Given the description of an element on the screen output the (x, y) to click on. 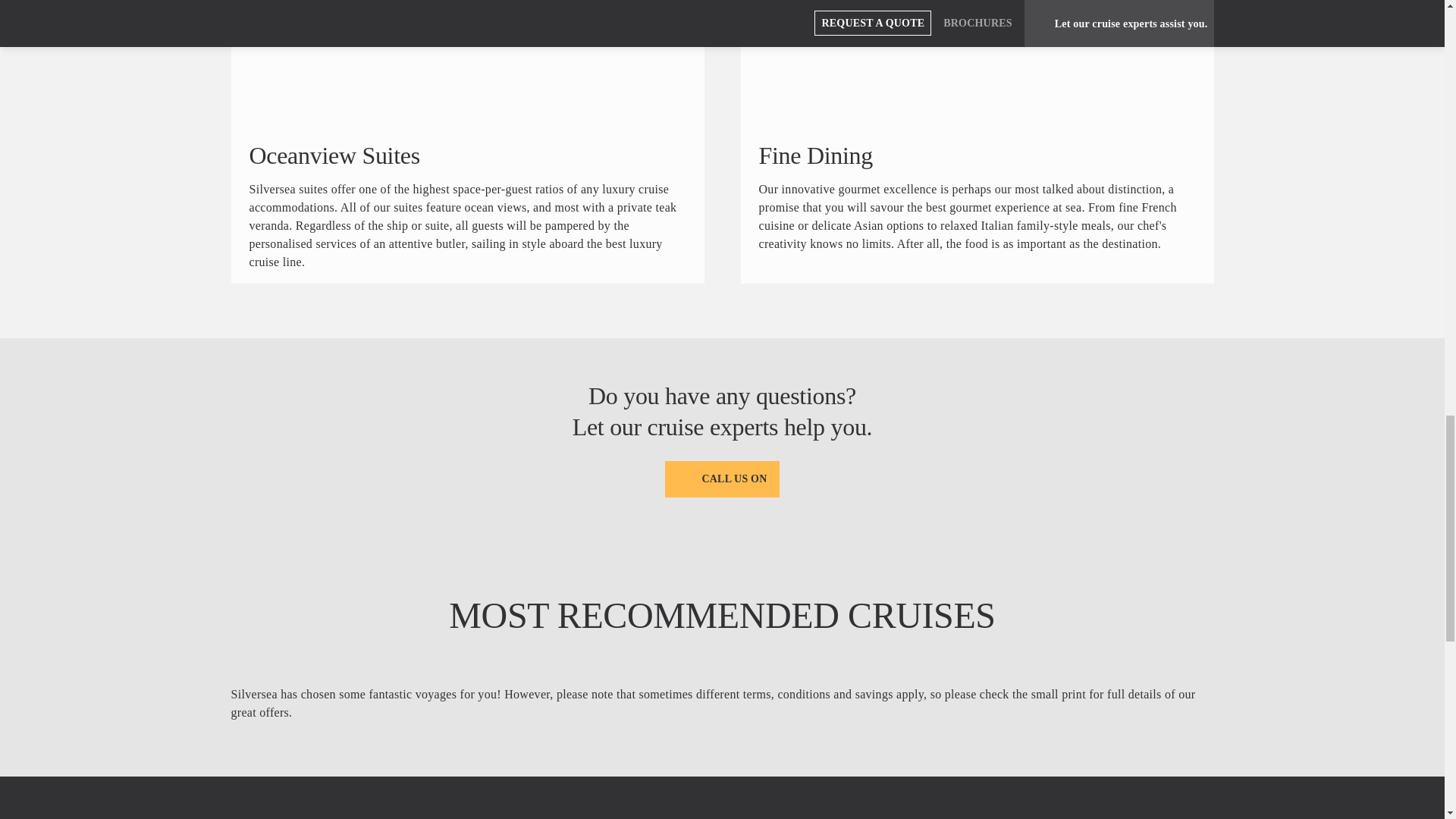
CALL US ON (721, 479)
